Given the description of an element on the screen output the (x, y) to click on. 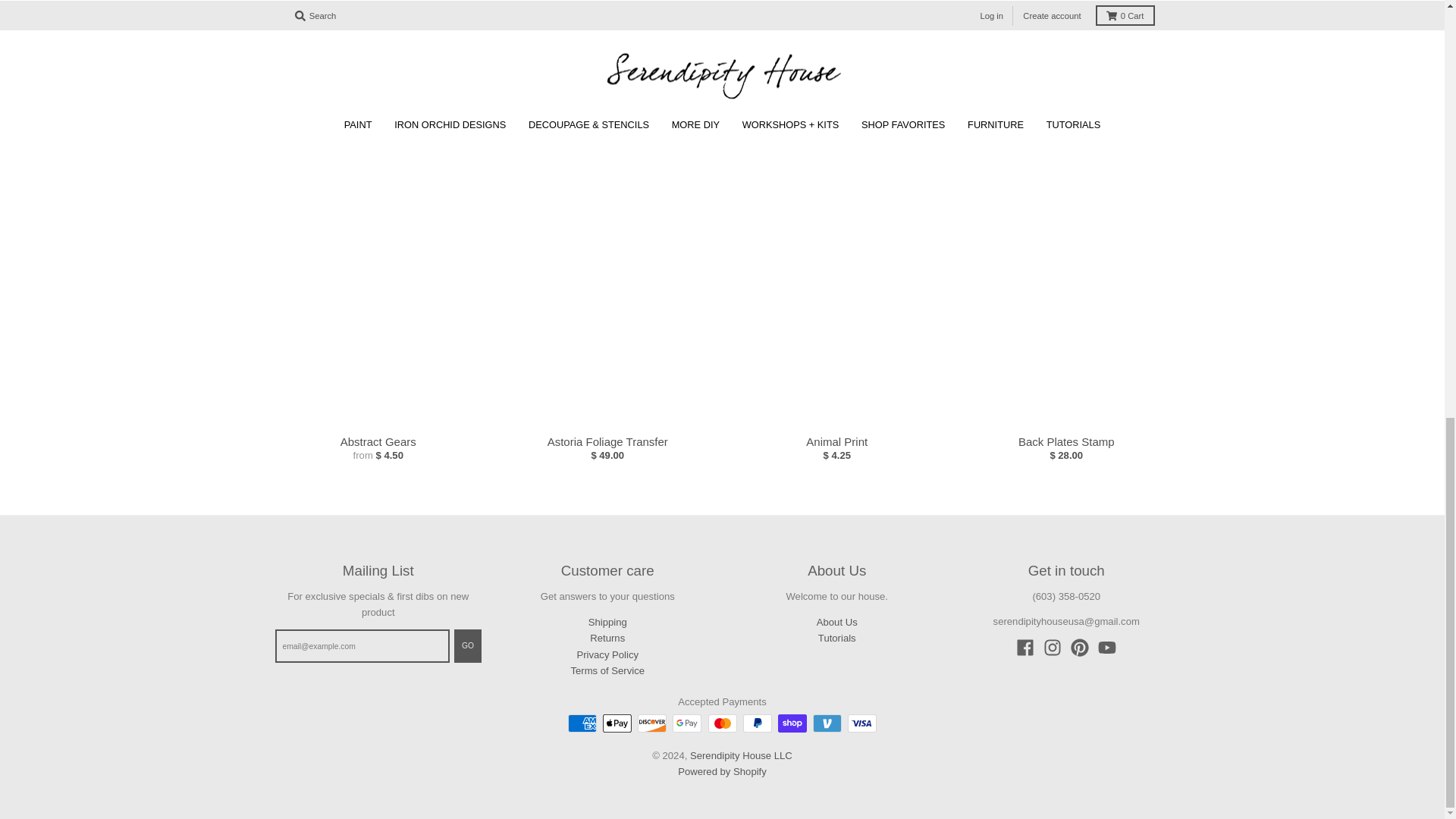
Facebook - Serendipity House LLC (1024, 647)
Instagram - Serendipity House LLC (1052, 647)
YouTube - Serendipity House LLC (1106, 647)
Pinterest - Serendipity House LLC (1079, 647)
